Given the description of an element on the screen output the (x, y) to click on. 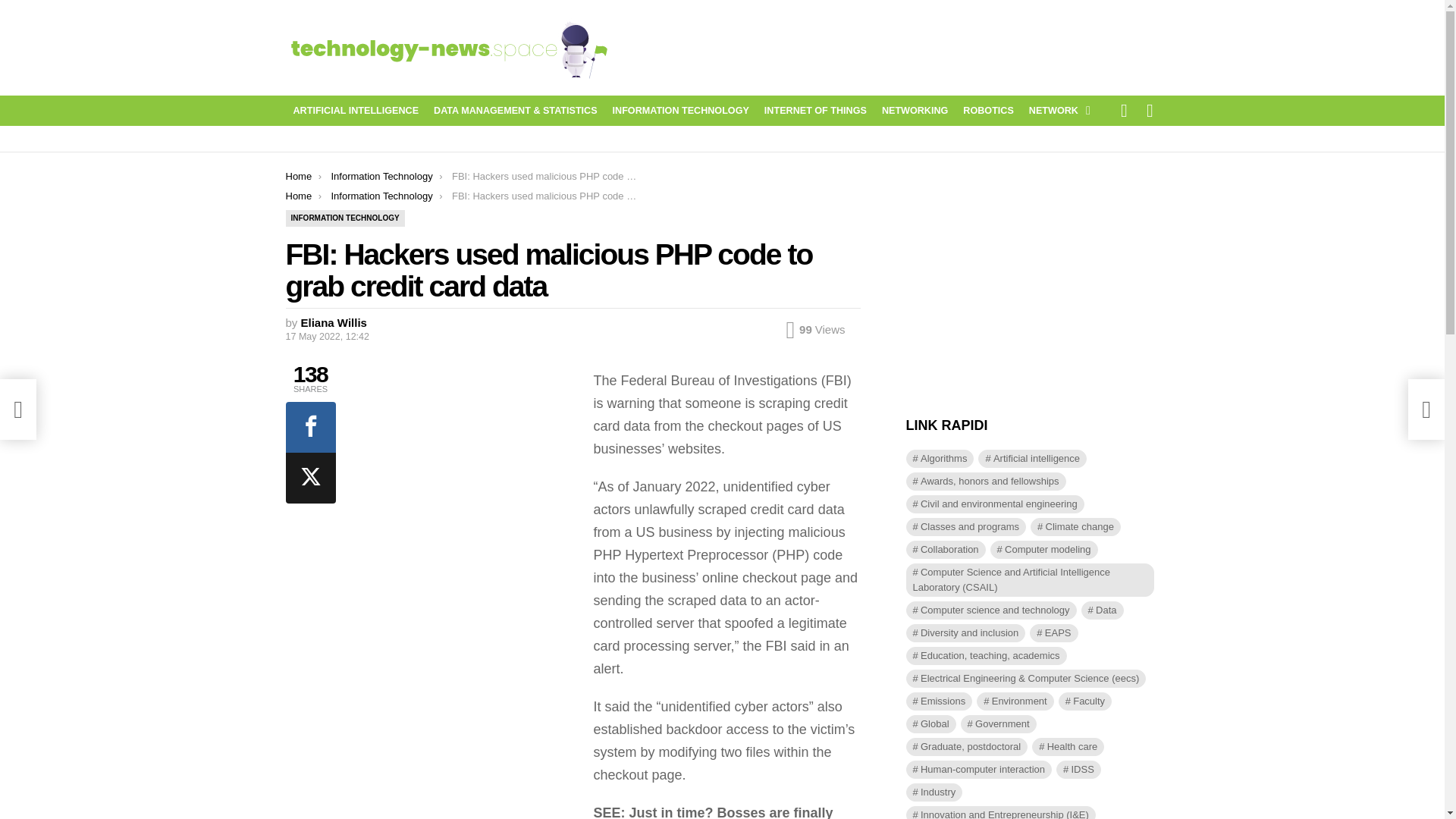
INTERNET OF THINGS (816, 110)
Posts by Eliana Willis (333, 322)
ROBOTICS (987, 110)
NETWORK (1056, 110)
NETWORKING (915, 110)
ARTIFICIAL INTELLIGENCE (355, 110)
INFORMATION TECHNOLOGY (681, 110)
